Given the description of an element on the screen output the (x, y) to click on. 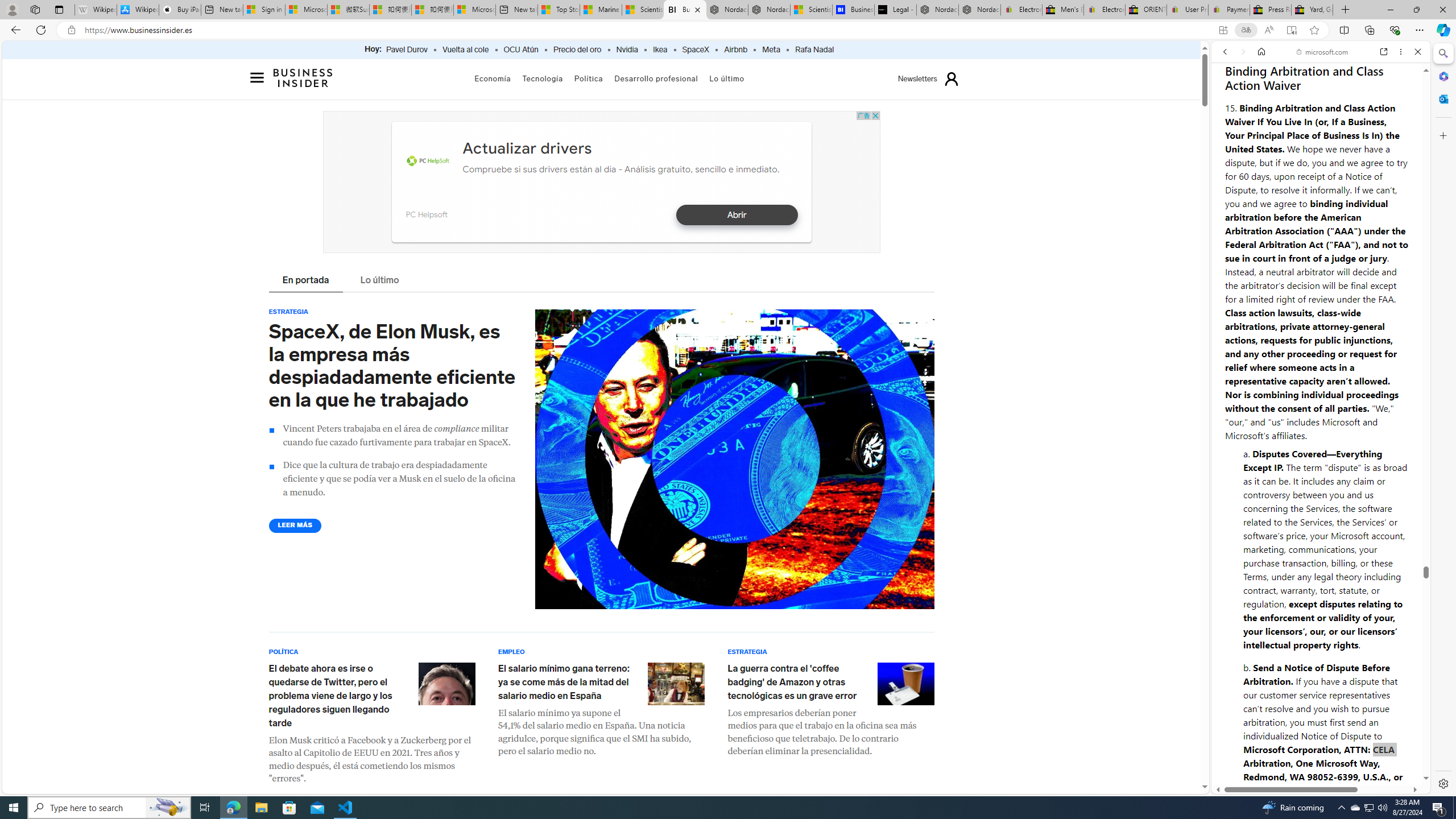
Rafa Nadal (814, 49)
SpaceX (695, 49)
Marine life - MSN (600, 9)
Minimize Search pane (1442, 53)
User Privacy Notice | eBay (1186, 9)
Rafa Nadal (814, 49)
Enter Immersive Reader (F9) (1291, 29)
Collage of Elon Musk with US currency and a Tesla (734, 459)
PC Helpsoft (427, 161)
